Given the description of an element on the screen output the (x, y) to click on. 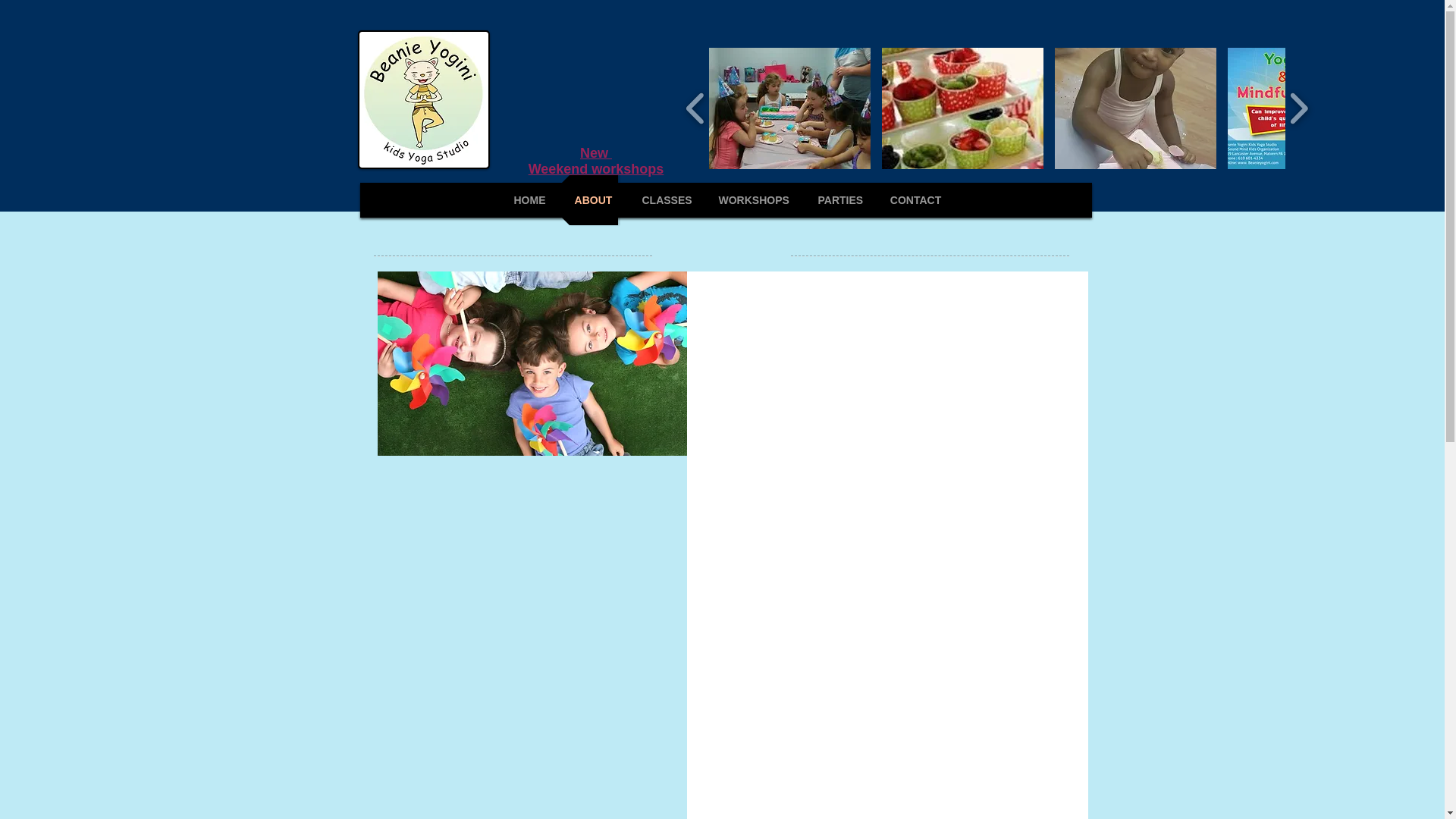
Weekend workshops (595, 168)
BEANIE YOGINI LOGO (423, 99)
CONTACT (914, 200)
CLASSES (664, 200)
ABOUT (592, 200)
Pinwheel Kids (532, 363)
WORKSHOPS (752, 200)
PARTIES (839, 200)
New  (595, 152)
HOME (528, 200)
